Given the description of an element on the screen output the (x, y) to click on. 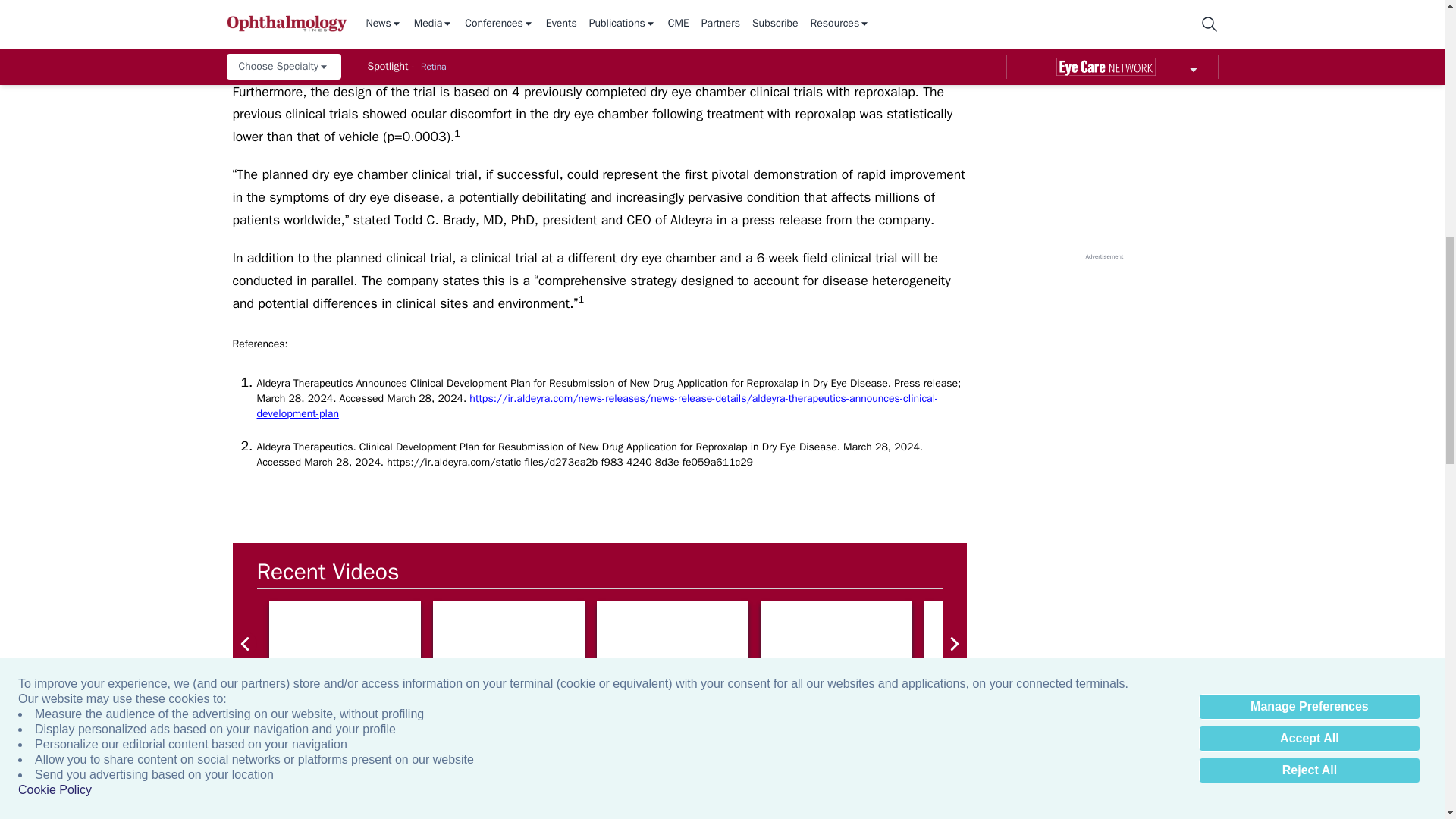
Andrew Pucker, OD, PhD (1163, 644)
Alice Epitropoulos, MD, and Laura M. Periman, MD (507, 644)
Video 3 - "Approaching Asymptomatic Cases with Risk Factors" (835, 644)
Alice Epitropoulos, MD, and Laura M. Periman, MD (343, 644)
